Given the description of an element on the screen output the (x, y) to click on. 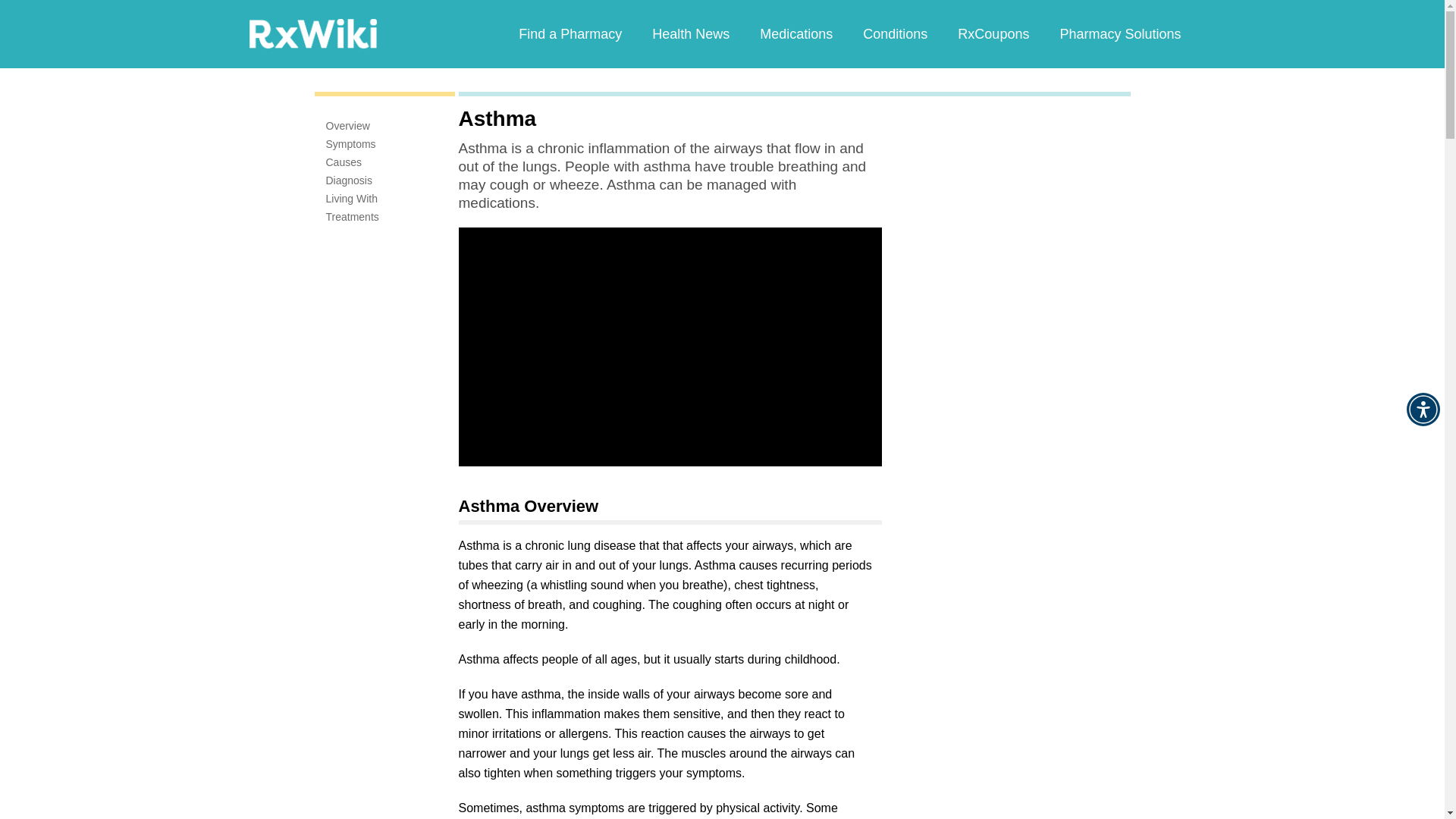
RxCoupons (992, 33)
Health News (690, 33)
Conditions (894, 33)
Find a Pharmacy (570, 33)
Living With (351, 198)
RxWiki (312, 32)
Medications (795, 33)
Causes (343, 162)
Diagnosis (349, 180)
Symptoms (350, 143)
Pharmacy Solutions (1119, 33)
Treatments (352, 216)
Overview (347, 125)
Accessibility Menu (1422, 409)
